Given the description of an element on the screen output the (x, y) to click on. 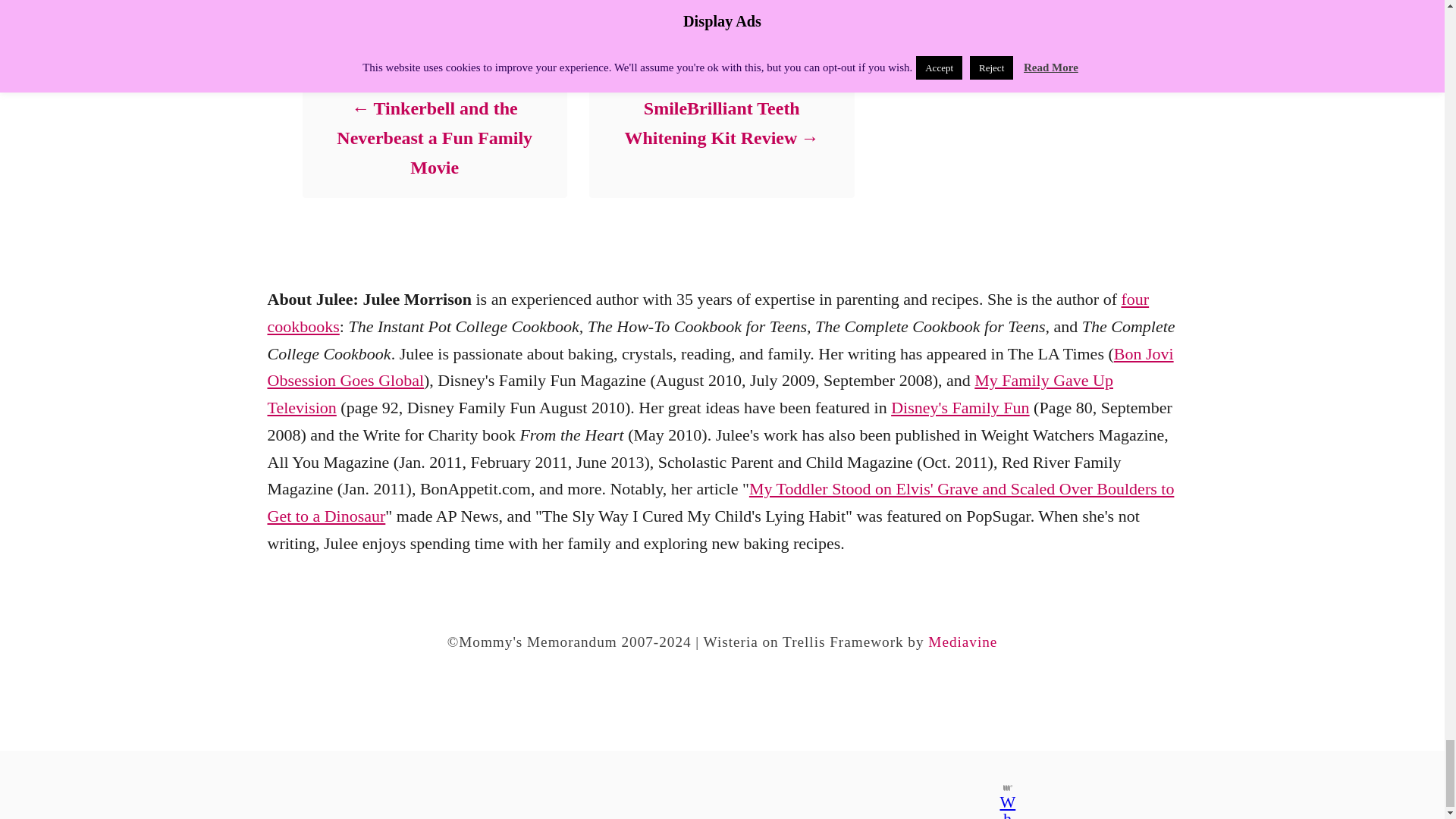
Tinkerbell and the Neverbeast a Fun Family Movie (434, 138)
